Given the description of an element on the screen output the (x, y) to click on. 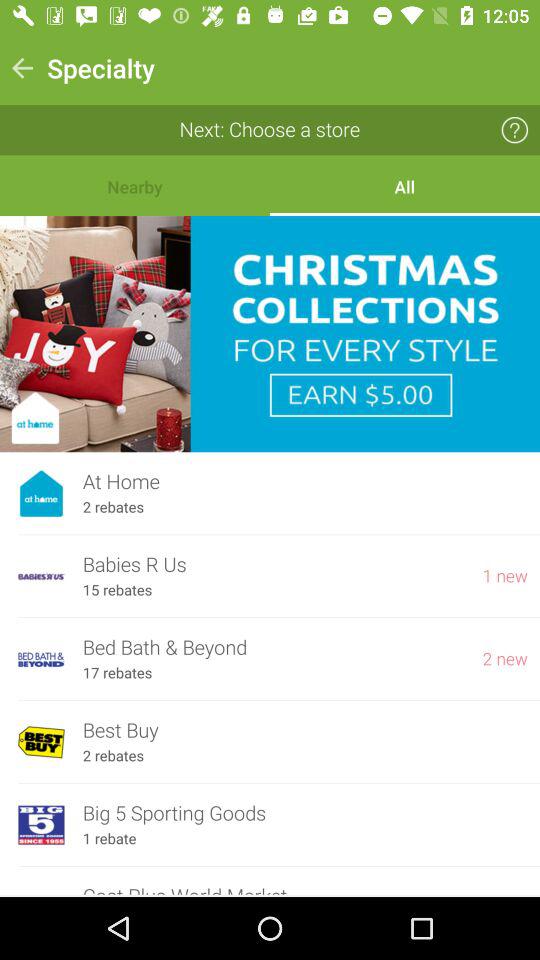
choose 15 rebates (117, 590)
